Given the description of an element on the screen output the (x, y) to click on. 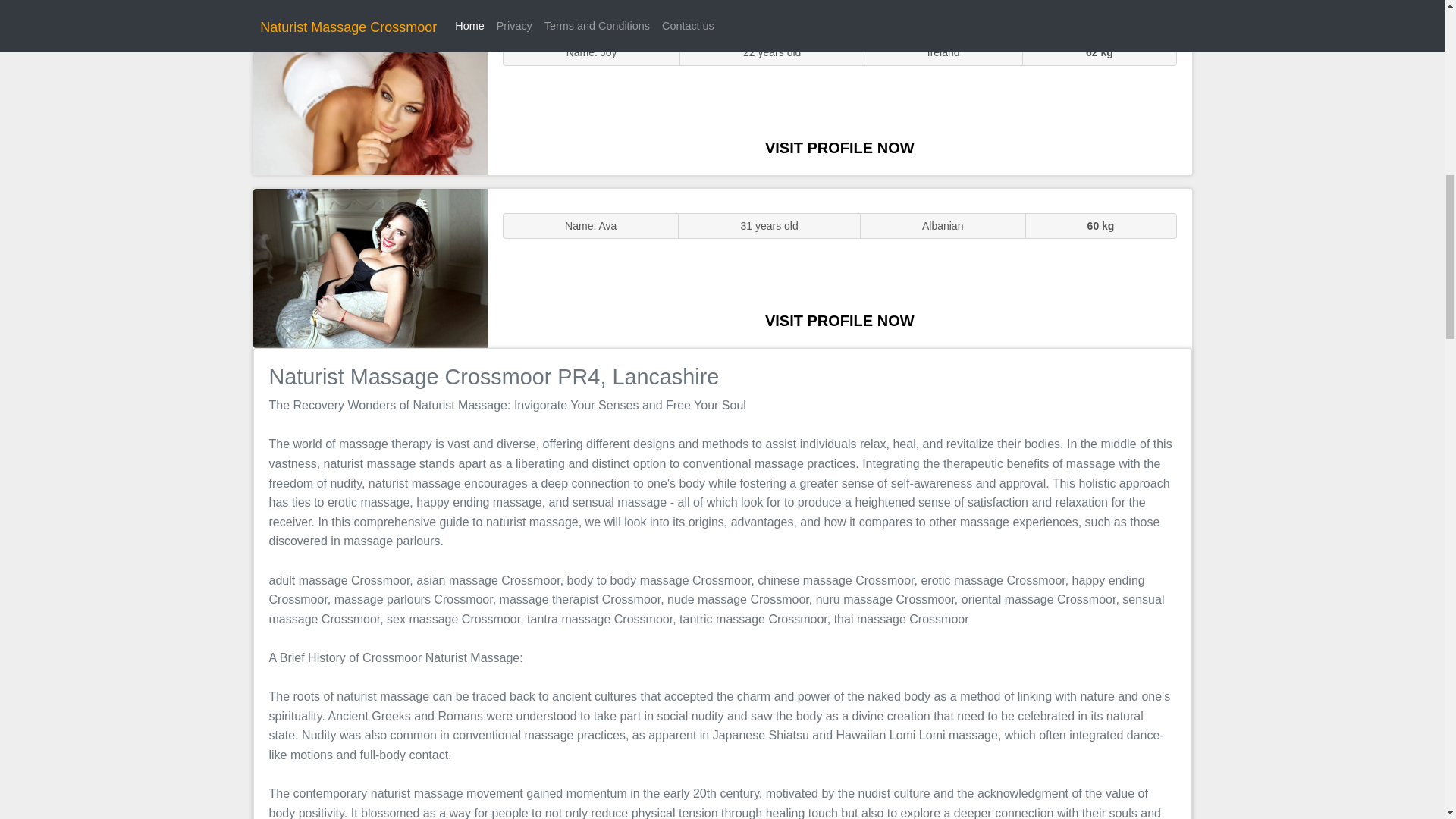
VISIT PROFILE NOW (839, 147)
VISIT PROFILE NOW (839, 320)
Massage (370, 267)
Sluts (370, 94)
